Given the description of an element on the screen output the (x, y) to click on. 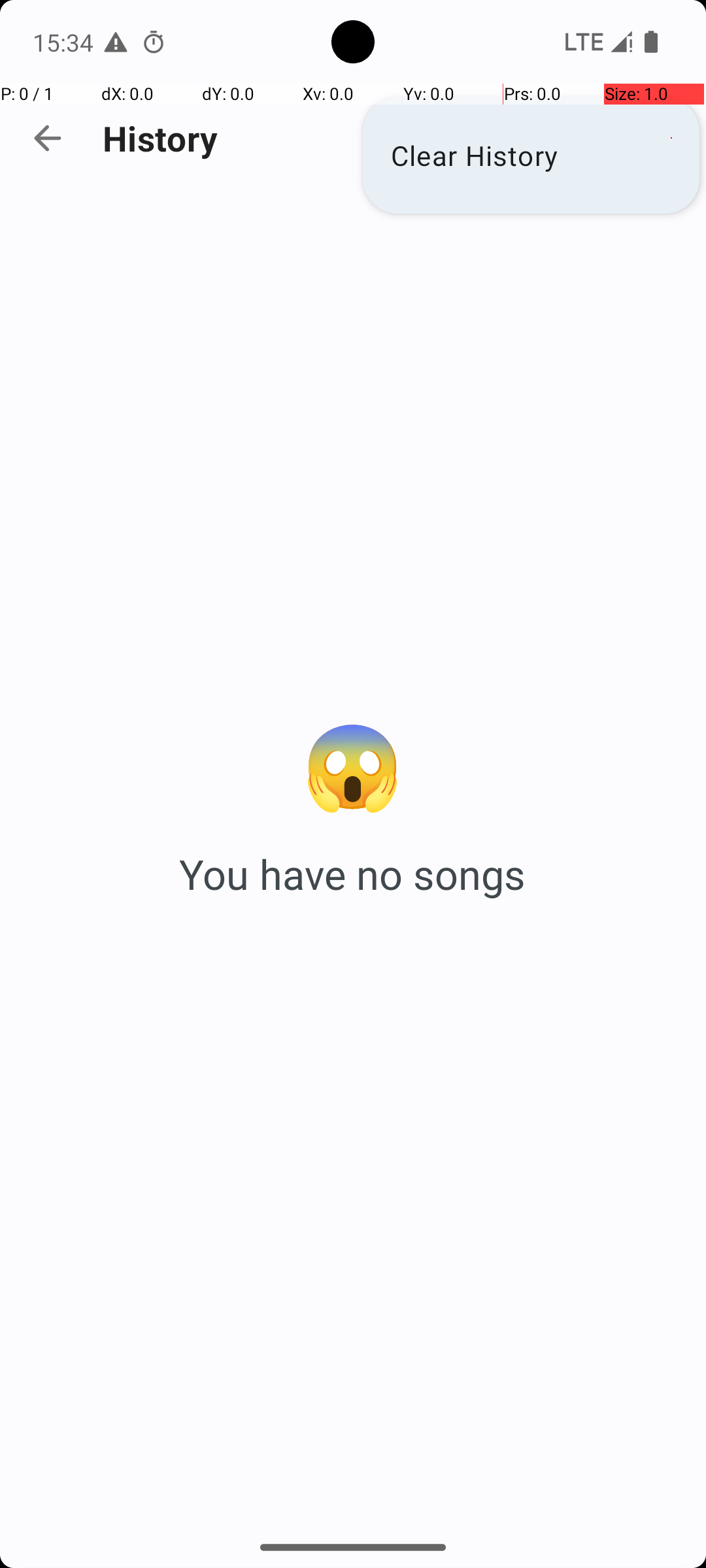
Clear History Element type: android.widget.TextView (531, 154)
